Given the description of an element on the screen output the (x, y) to click on. 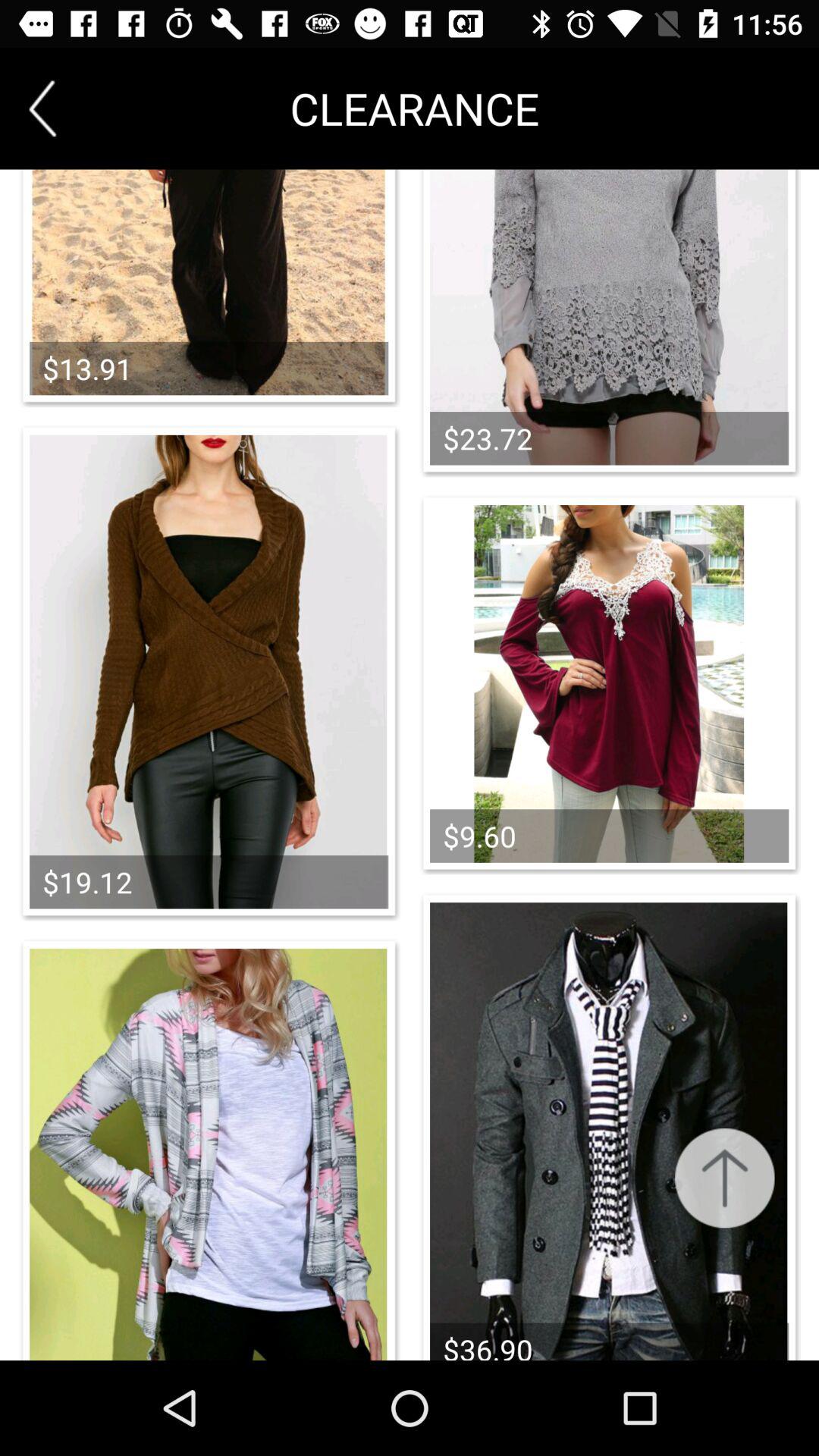
scroll back up (724, 1177)
